Given the description of an element on the screen output the (x, y) to click on. 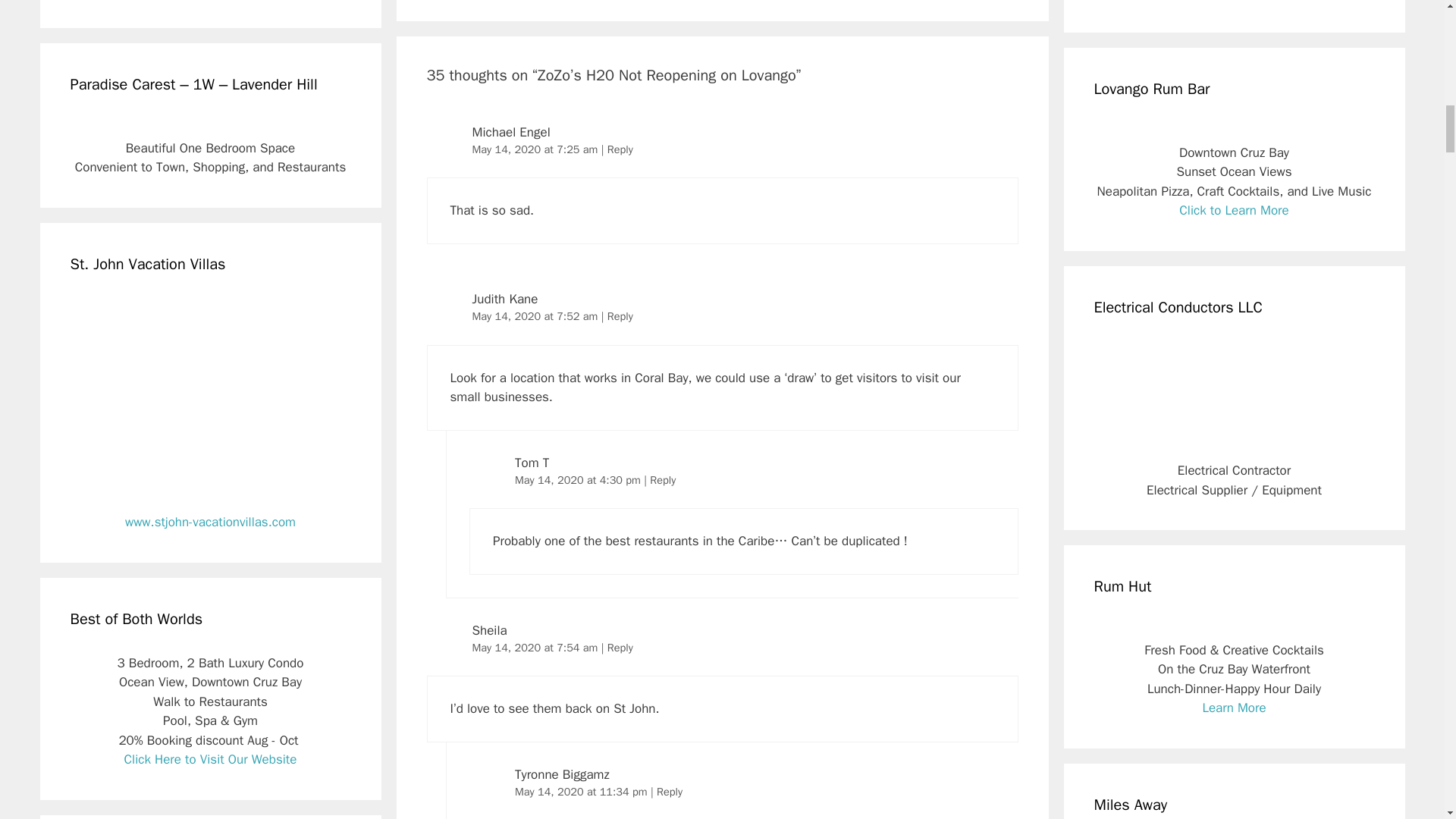
May 14, 2020 at 7:25 am (535, 149)
Reply (620, 149)
